Given the description of an element on the screen output the (x, y) to click on. 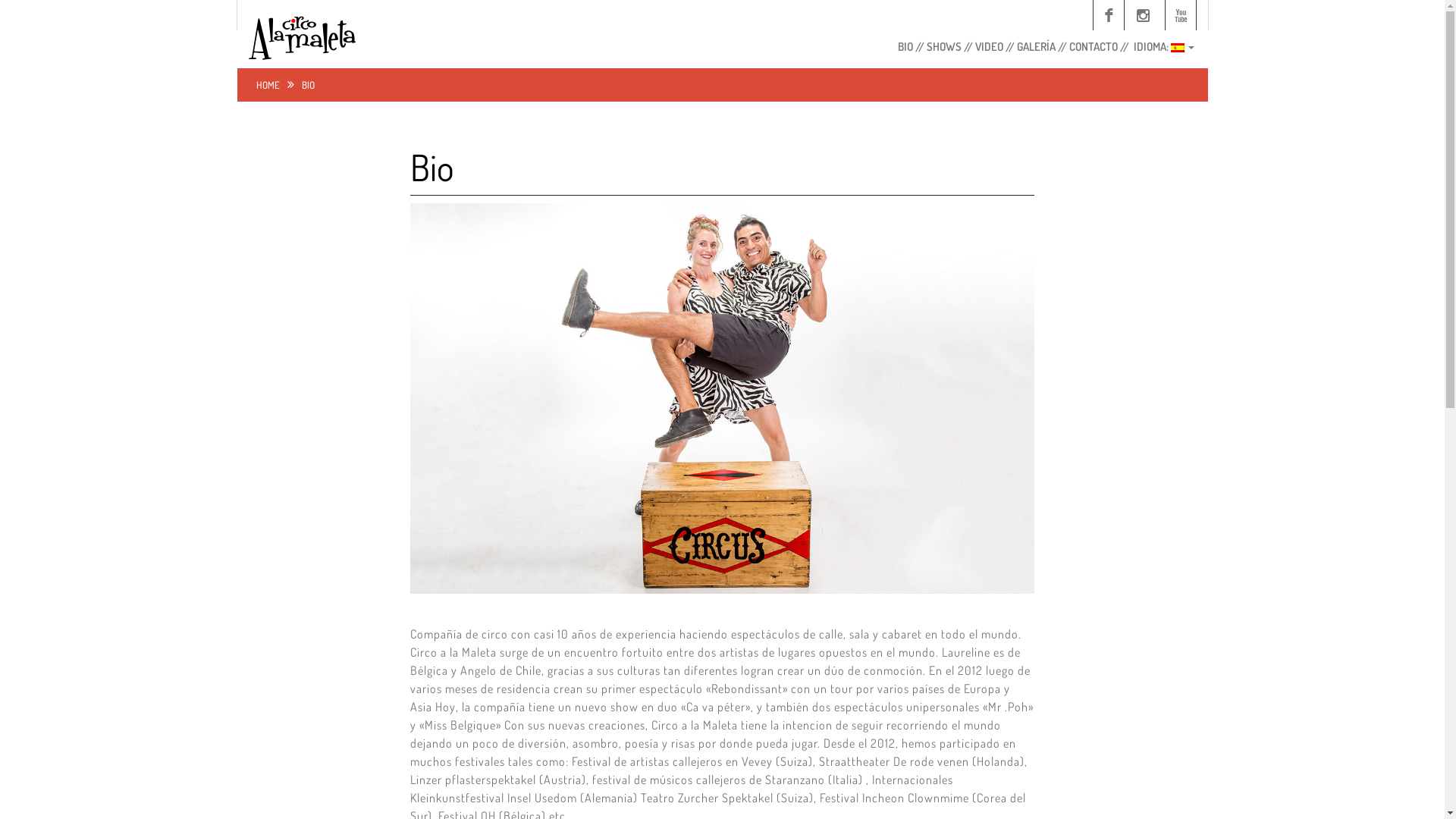
CONTACTO Element type: text (1092, 49)
BIO Element type: text (904, 49)
HOME Element type: text (267, 84)
Bio Element type: text (432, 166)
VIDEO Element type: text (988, 49)
 IDIOMA:  Element type: text (1161, 49)
SHOWS Element type: text (943, 49)
